Given the description of an element on the screen output the (x, y) to click on. 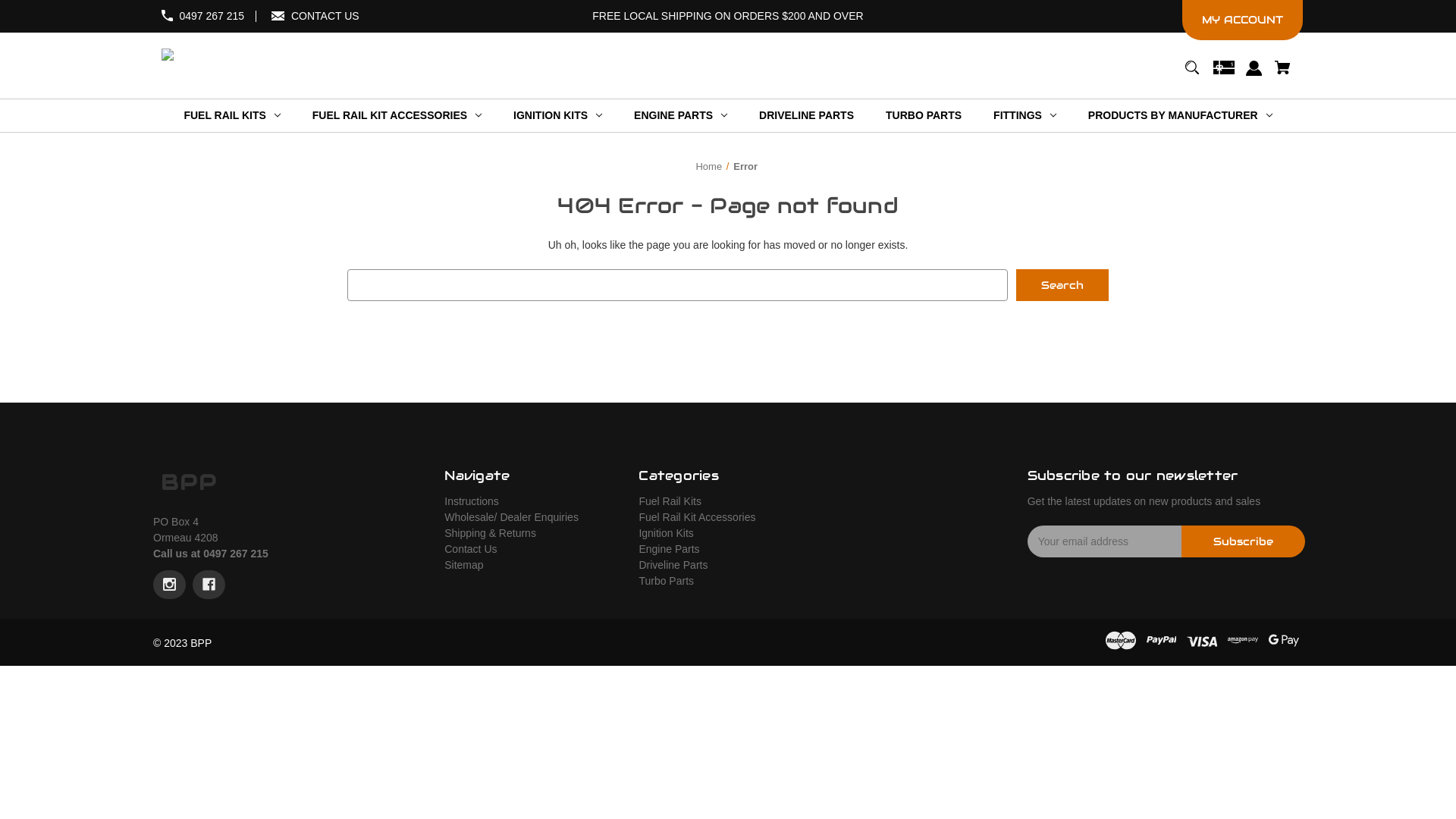
DRIVELINE PARTS Element type: text (806, 115)
ENGINE PARTS Element type: text (680, 115)
MY ACCOUNT Element type: text (1242, 20)
Instagram Element type: hover (169, 584)
Shipping & Returns Element type: text (490, 533)
Driveline Parts Element type: text (672, 564)
MAGNIFYING GLASS IMAGE LARGE RED CIRCLE WITH A BLACK BORDER Element type: text (1191, 74)
Turbo Parts Element type: text (665, 580)
Fuel Rail Kit Accessories Element type: text (696, 517)
Subscribe Element type: text (1243, 541)
Error Element type: text (745, 166)
Ignition Kits Element type: text (665, 533)
BPP Element type: hover (166, 54)
TURBO PARTS Element type: text (923, 115)
0497 267 215 Element type: text (211, 15)
Facebook Element type: hover (208, 584)
CONTACT US Element type: text (325, 15)
Wholesale/ Dealer Enquiries Element type: text (511, 517)
Fuel Rail Kits Element type: text (669, 501)
PRODUCTS BY MANUFACTURER Element type: text (1180, 115)
FUEL RAIL KIT ACCESSORIES Element type: text (396, 115)
Home Element type: text (708, 166)
BPP Element type: text (189, 482)
IGNITION KITS Element type: text (557, 115)
GIFT CARD IMAGE LARGE SQUARE BLACK IMAGE WITH A BOW ONTOP Element type: text (1223, 74)
FUEL RAIL KITS Element type: text (231, 115)
Contact Us Element type: text (470, 548)
Engine Parts Element type: text (668, 548)
Sitemap Element type: text (463, 564)
Search Element type: text (1062, 285)
Instructions Element type: text (471, 501)
FITTINGS Element type: text (1024, 115)
